Given the description of an element on the screen output the (x, y) to click on. 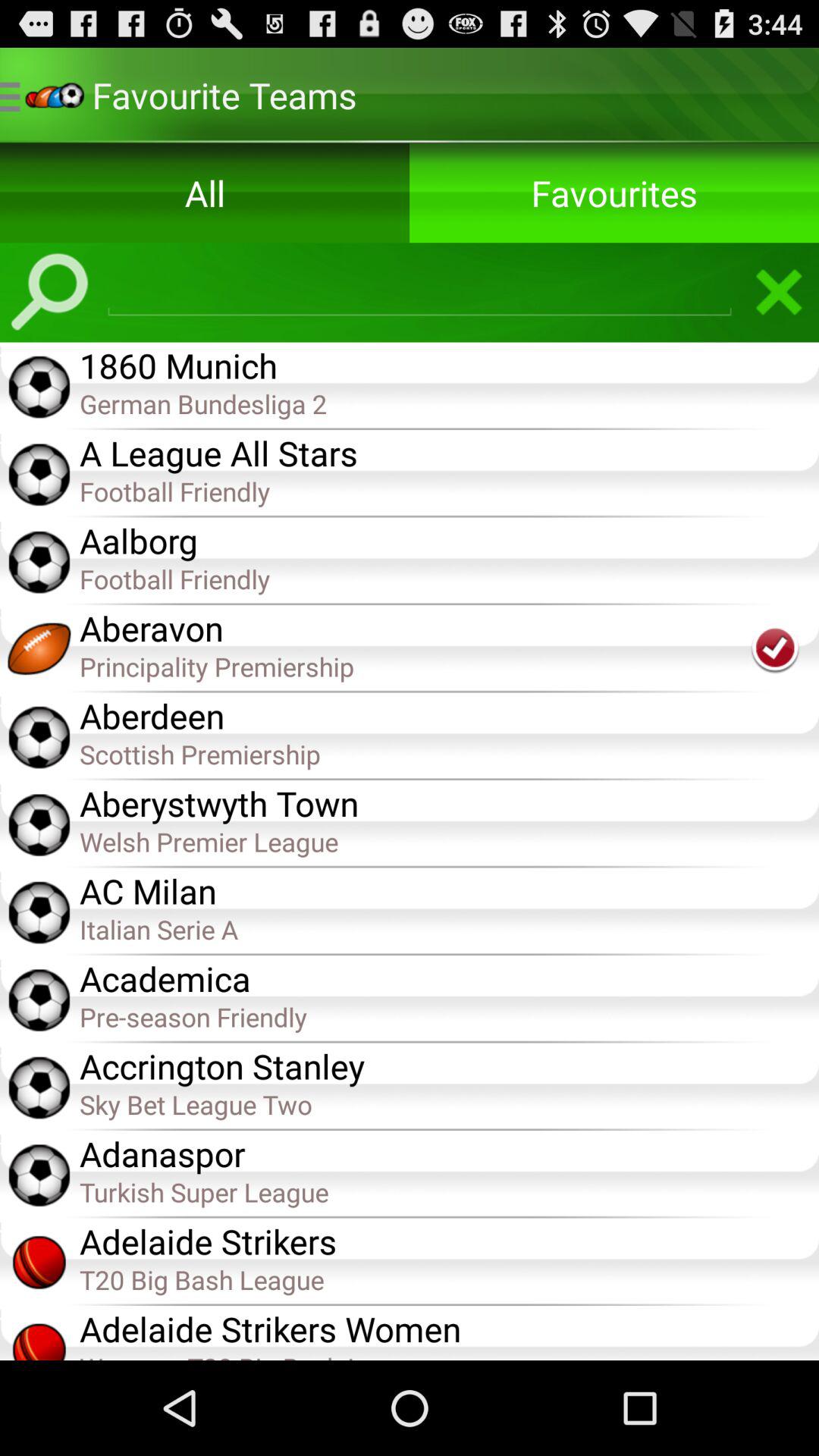
choose the aalborg item (449, 539)
